Given the description of an element on the screen output the (x, y) to click on. 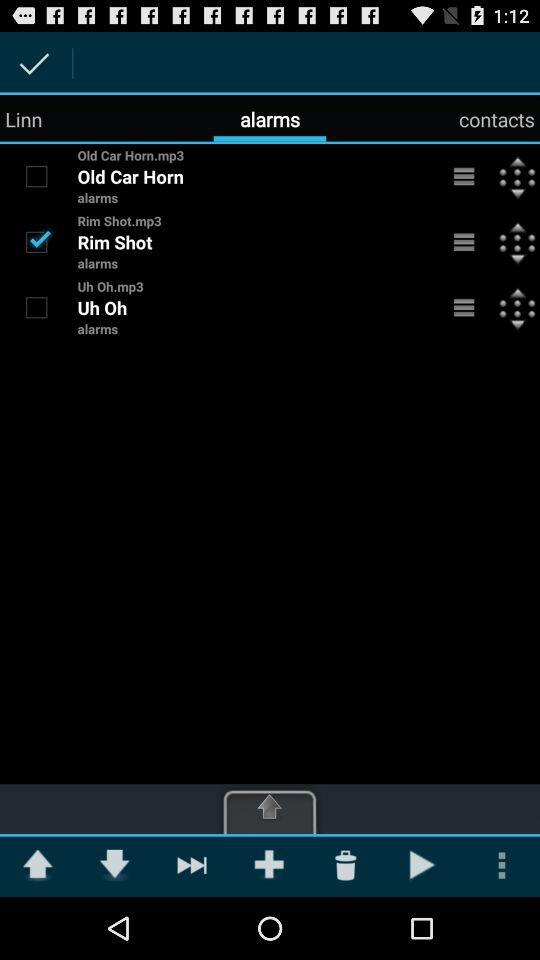
menu to open additional options for alarm (463, 307)
